Given the description of an element on the screen output the (x, y) to click on. 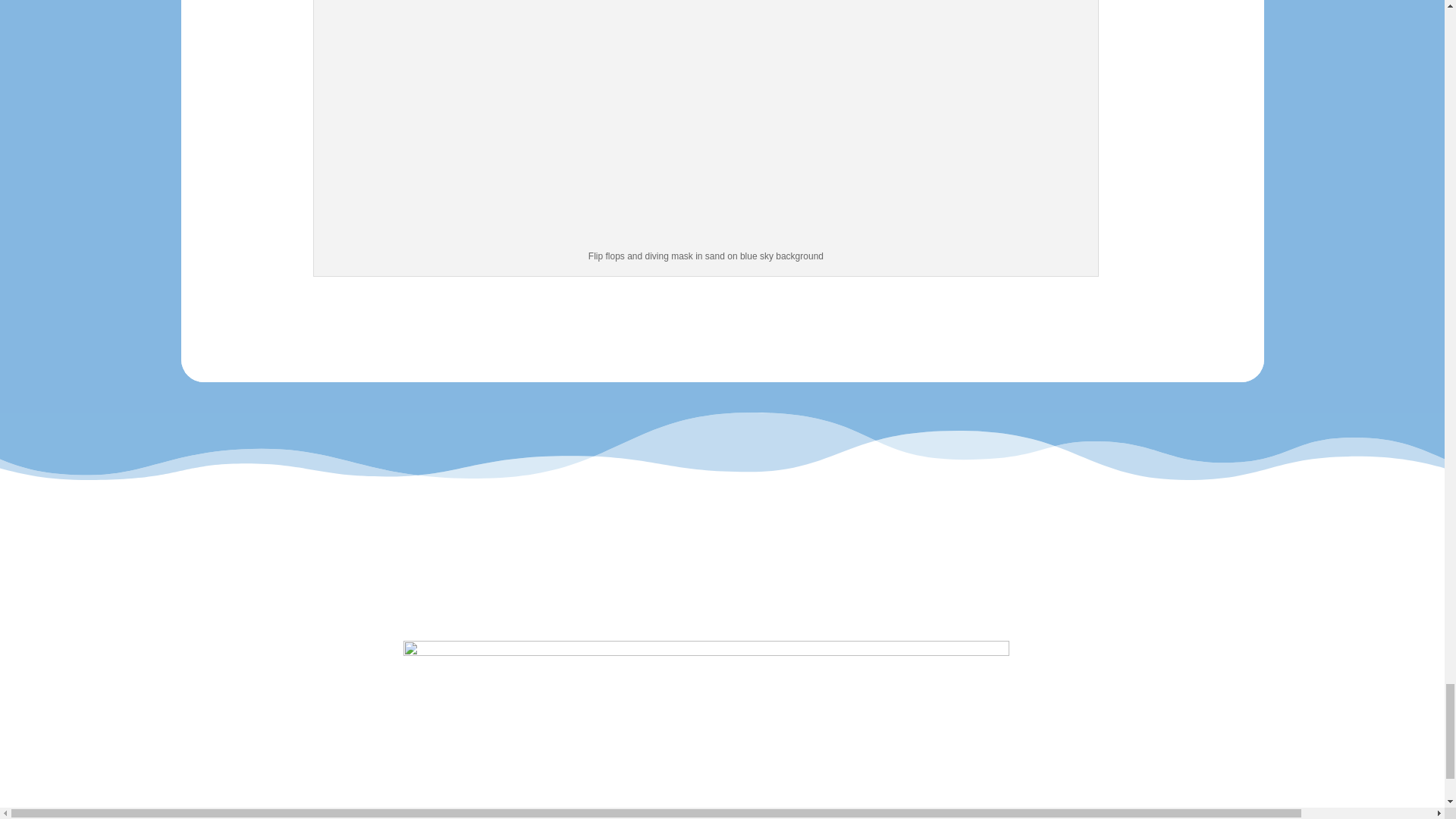
cropped-gran-canaria-logo.png (706, 721)
